Given the description of an element on the screen output the (x, y) to click on. 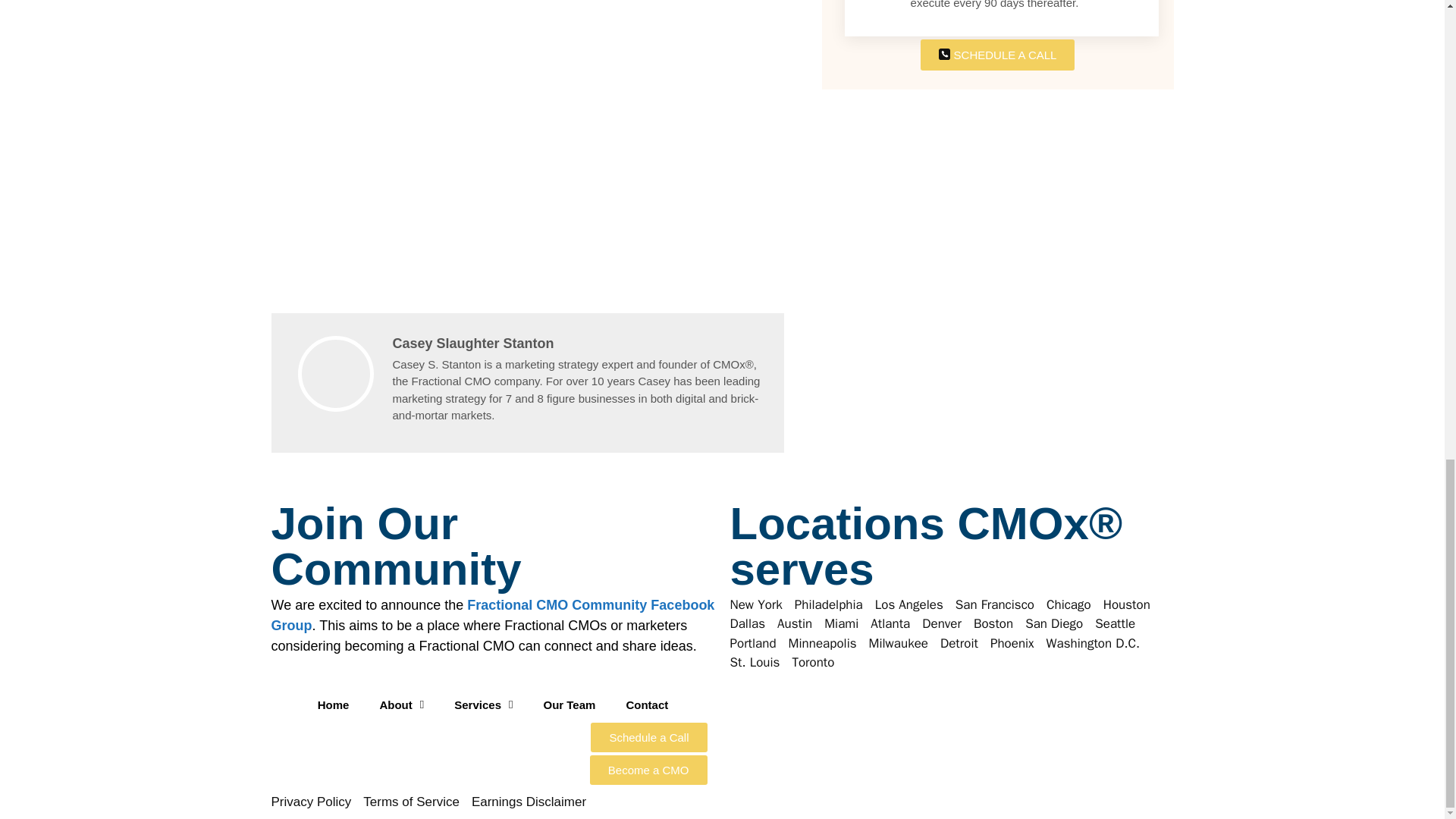
SCHEDULE A CALL (997, 54)
Our Team (568, 704)
Fractional CMO Community Facebook Group (492, 615)
Home (333, 704)
Services (483, 704)
About (401, 704)
